Given the description of an element on the screen output the (x, y) to click on. 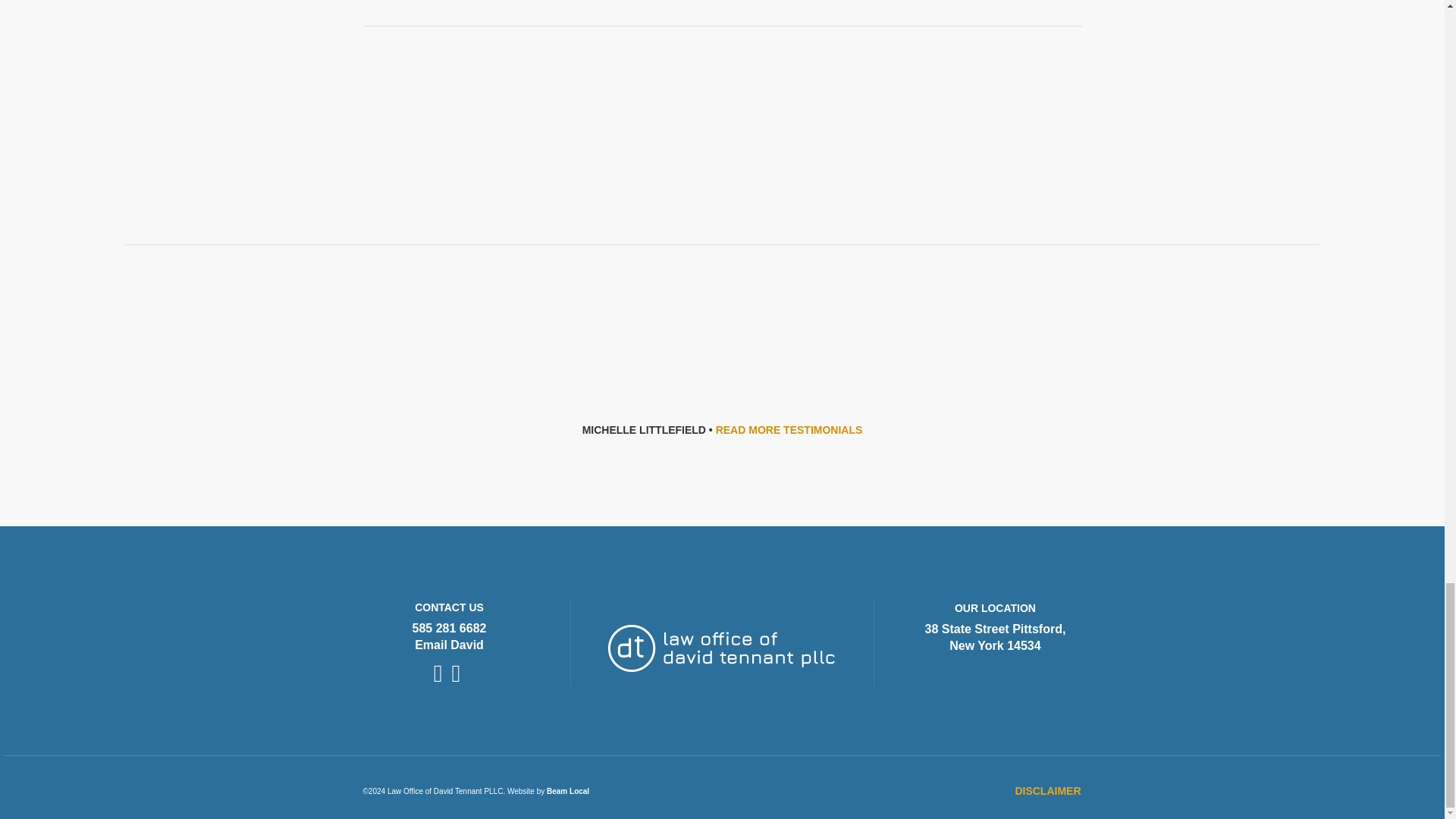
38 State Street Pittsford, (994, 628)
Beam Local (568, 791)
New York 14534 (995, 645)
585 281 6682 (449, 627)
DISCLAIMER (1047, 791)
READ MORE TESTIMONIALS (789, 429)
Email David (448, 644)
